Given the description of an element on the screen output the (x, y) to click on. 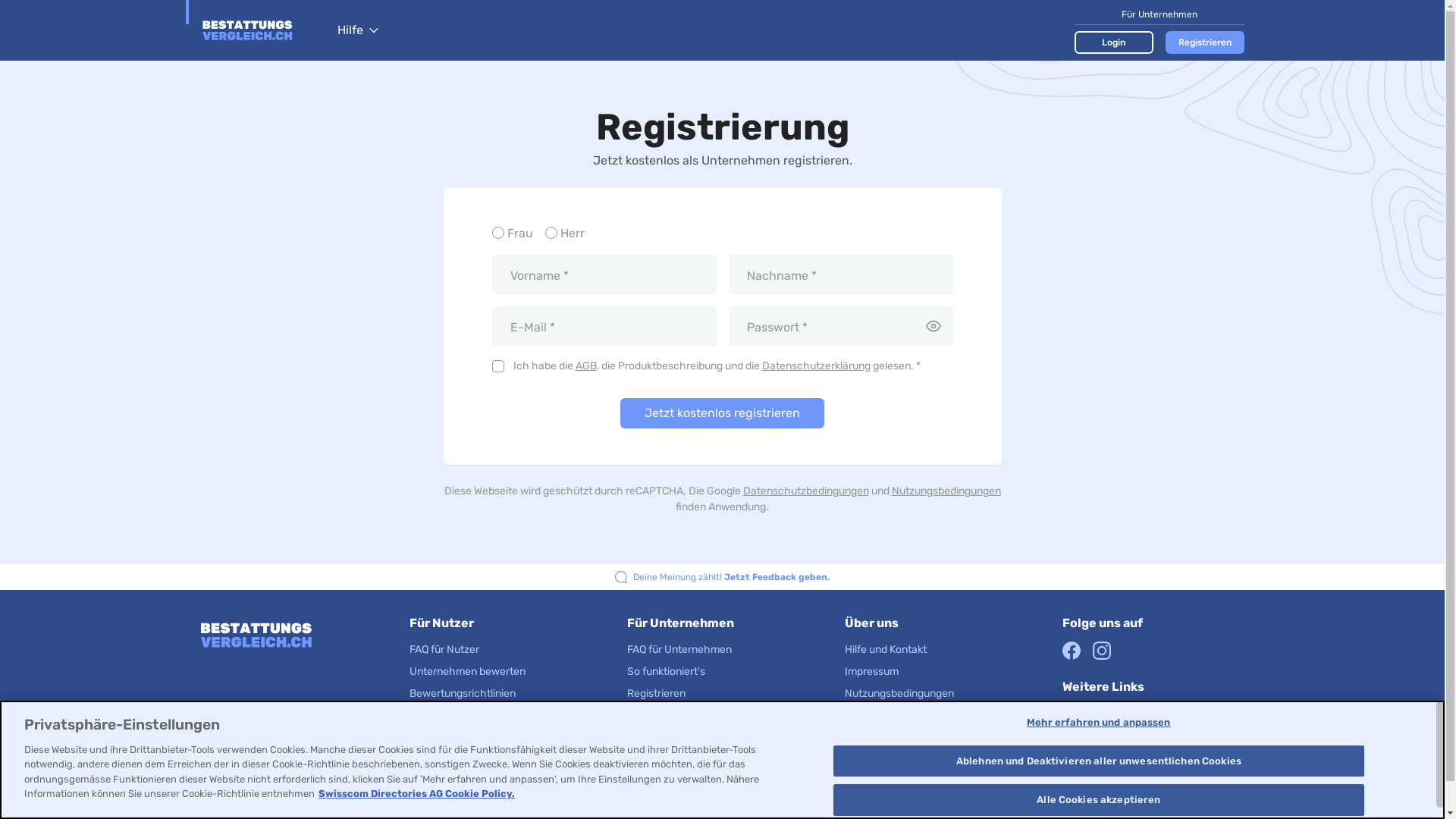
Jetzt kostenlos registrieren Element type: text (722, 413)
Nutzungsbedingungen Element type: text (946, 490)
Localsearch.ch Element type: text (1100, 734)
Zur Startseite Element type: hover (260, 30)
Ablehnen und Deaktivieren aller unwesentlichen Cookies Element type: text (1098, 761)
Impressum Element type: text (871, 671)
So funktioniert's Element type: text (666, 671)
Facebook Element type: text (1071, 650)
Hilfe und Kontakt Element type: text (885, 649)
Bewertungsrichtlinien Element type: text (462, 693)
Login Element type: text (1112, 41)
Local.ch Element type: text (1083, 712)
Nutzungsbedingungen Element type: text (898, 693)
Bewertungsrichtlinien Element type: text (680, 715)
Registrieren Element type: text (656, 693)
Registrieren Element type: text (1203, 41)
Hilfe Element type: text (356, 30)
Swisscom Directories AG Cookie Policy. Element type: text (416, 793)
Datenschutzbedingungen Element type: text (806, 490)
Unternehmen bewerten Element type: text (467, 671)
AGB Element type: text (585, 365)
Instagram Element type: text (1101, 650)
Mehr erfahren und anpassen Element type: text (1098, 722)
AGB und Produktbeschreibungen Element type: text (924, 737)
Alle Cookies akzeptieren Element type: text (1098, 799)
